Given the description of an element on the screen output the (x, y) to click on. 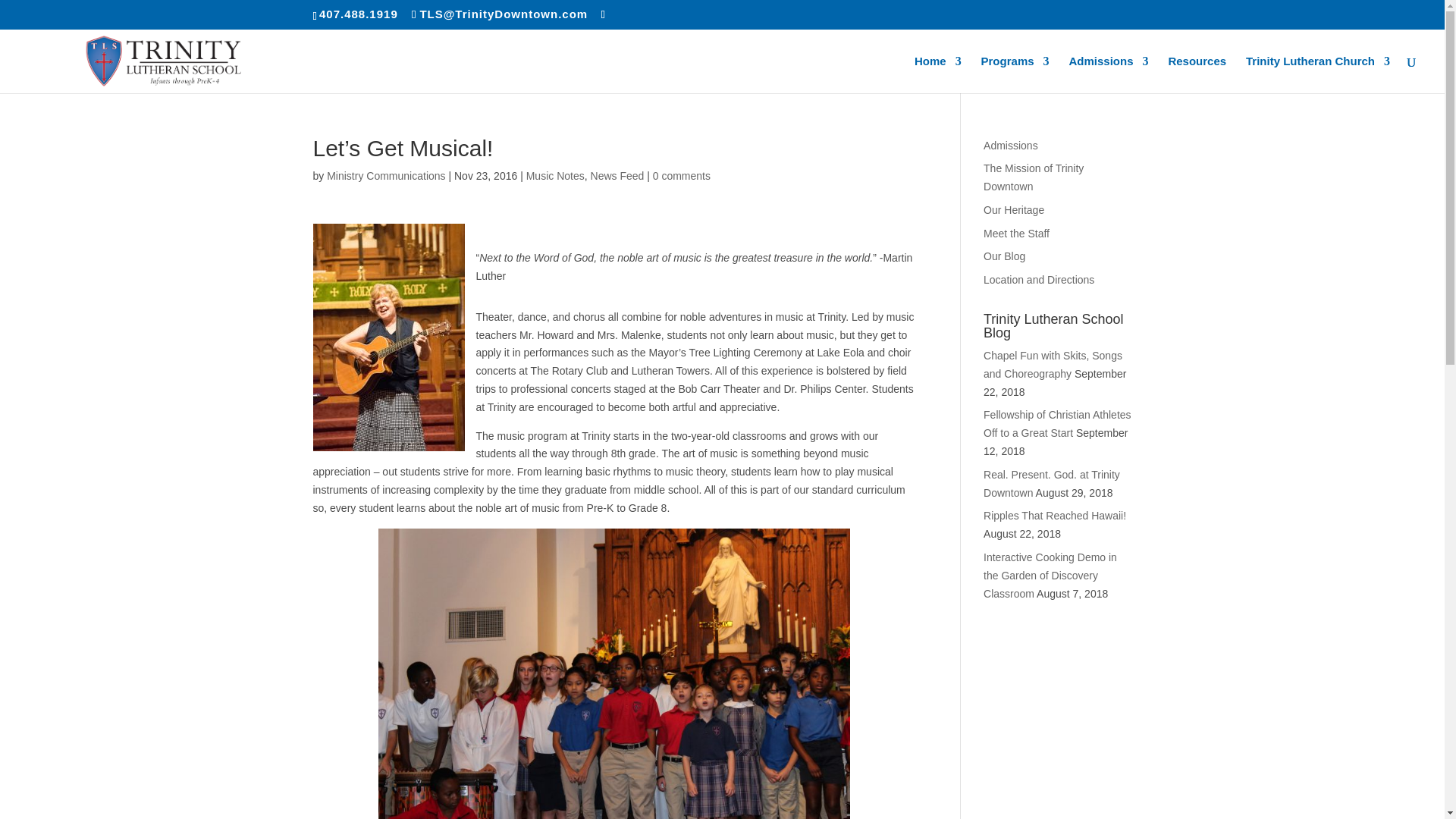
Home (937, 74)
Posts by Ministry Communications (385, 175)
Trinity Lutheran Church (1318, 74)
Programs (1015, 74)
Admissions (1108, 74)
Resources (1196, 74)
